Given the description of an element on the screen output the (x, y) to click on. 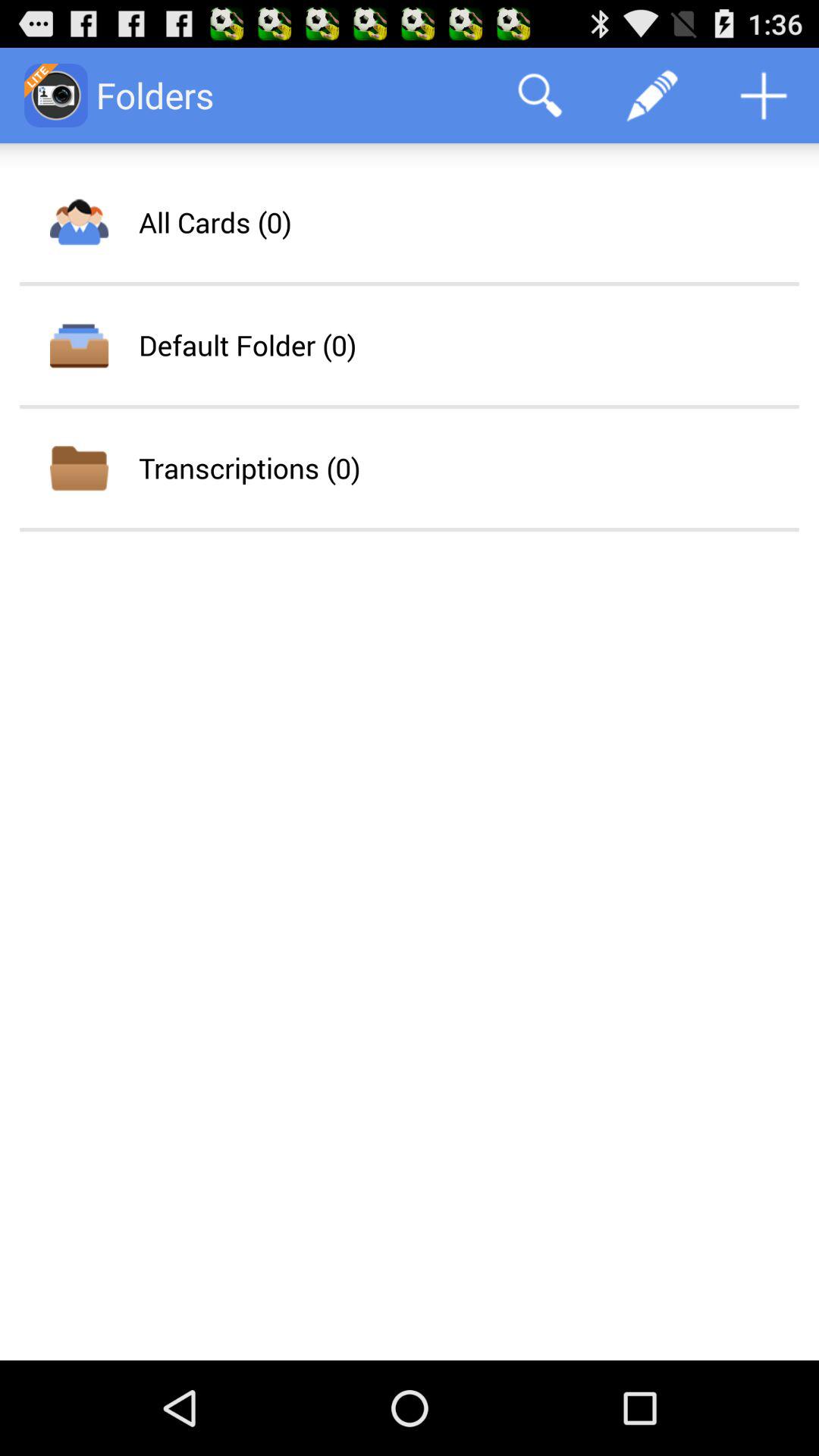
open the app below the default folder (0) icon (249, 467)
